Given the description of an element on the screen output the (x, y) to click on. 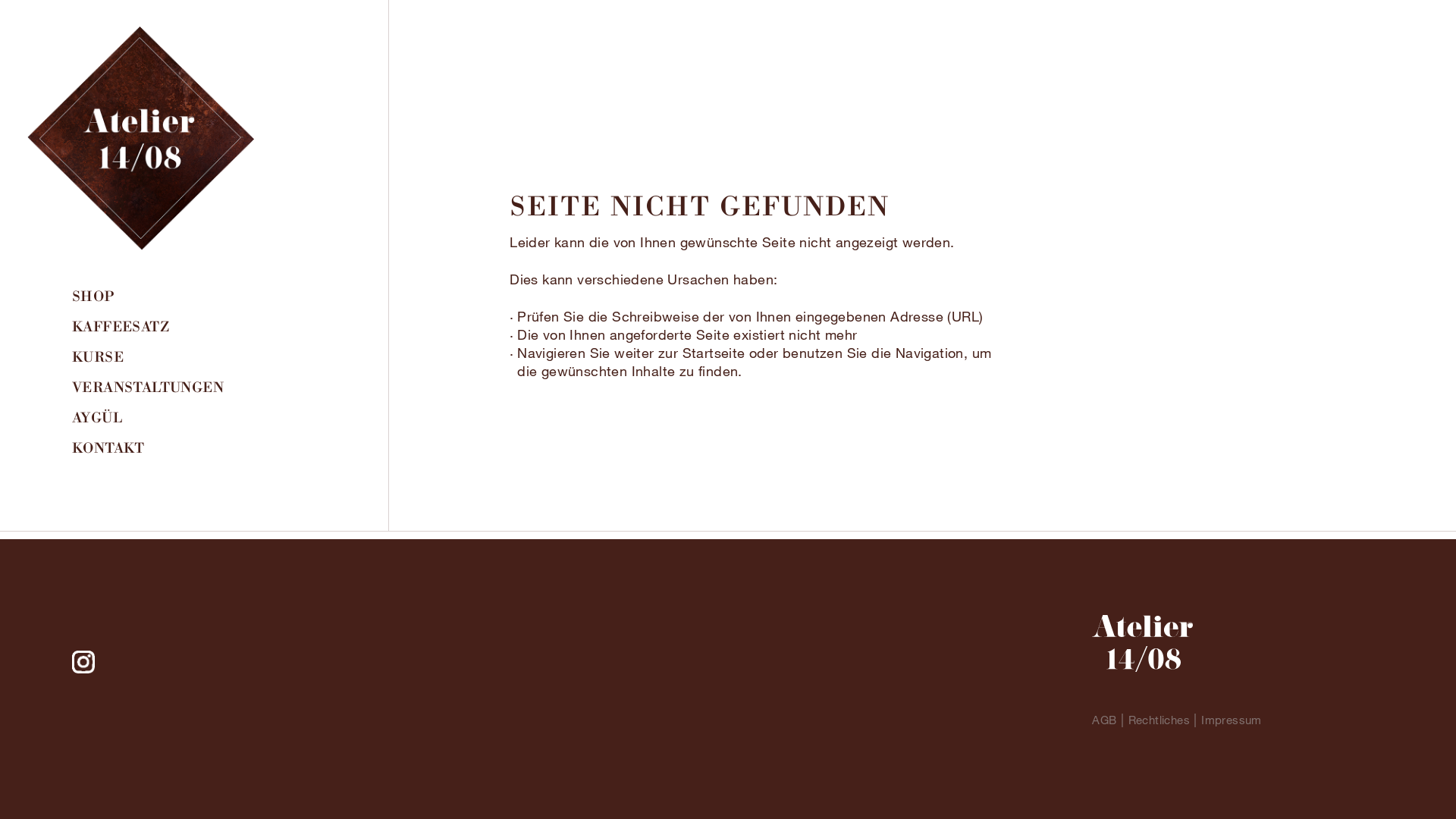
Rechtliches Element type: text (1158, 719)
KAFFEESATZ Element type: text (157, 325)
KURSE Element type: text (157, 356)
https://www.instagram.com/atelier1408/ Element type: text (83, 661)
SHOP Element type: text (157, 295)
VERANSTALTUNGEN Element type: text (157, 386)
Impressum Element type: text (1231, 719)
AGB Element type: text (1104, 719)
KONTAKT Element type: text (157, 447)
